Given the description of an element on the screen output the (x, y) to click on. 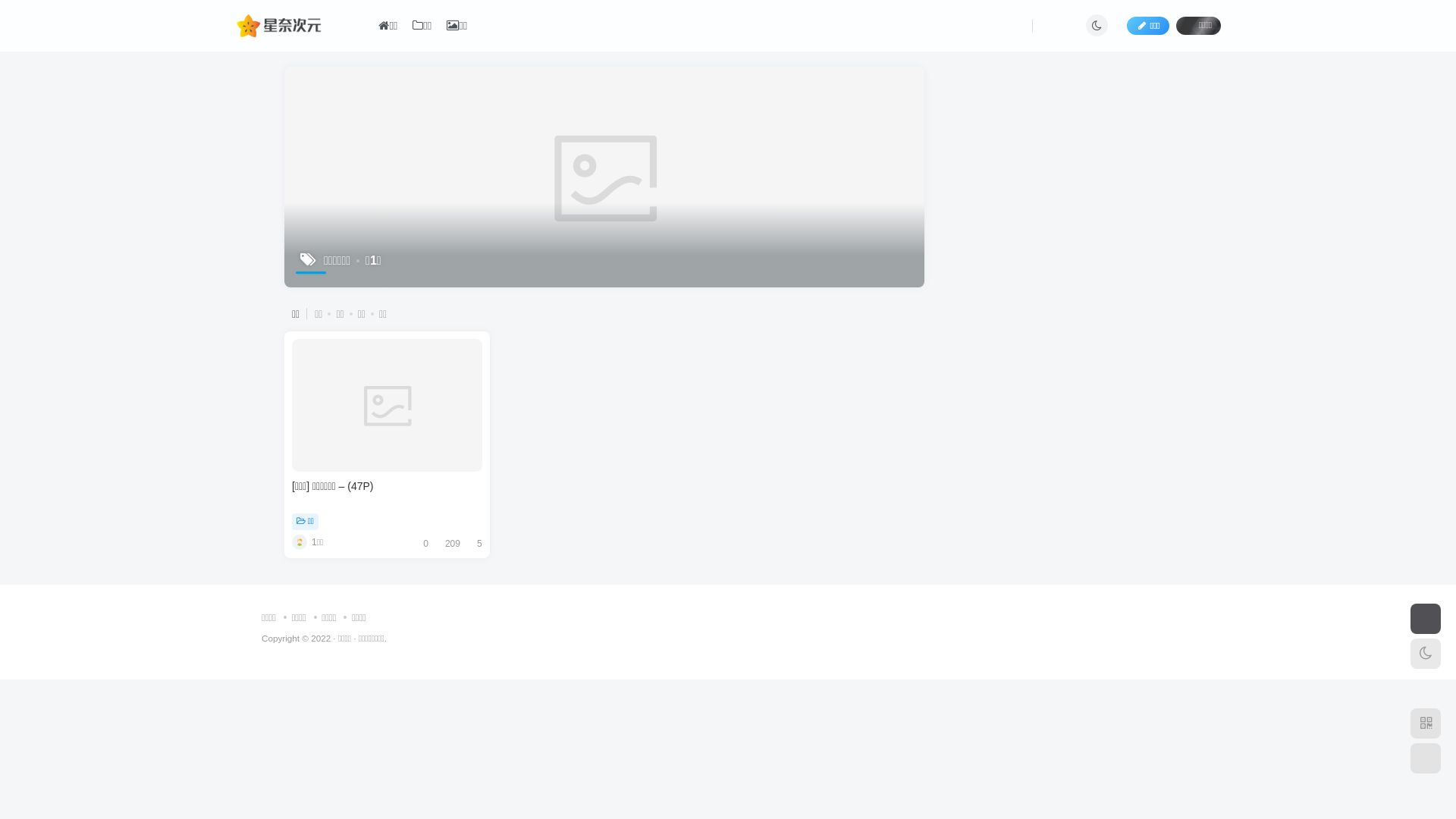
0 Element type: text (420, 543)
